Given the description of an element on the screen output the (x, y) to click on. 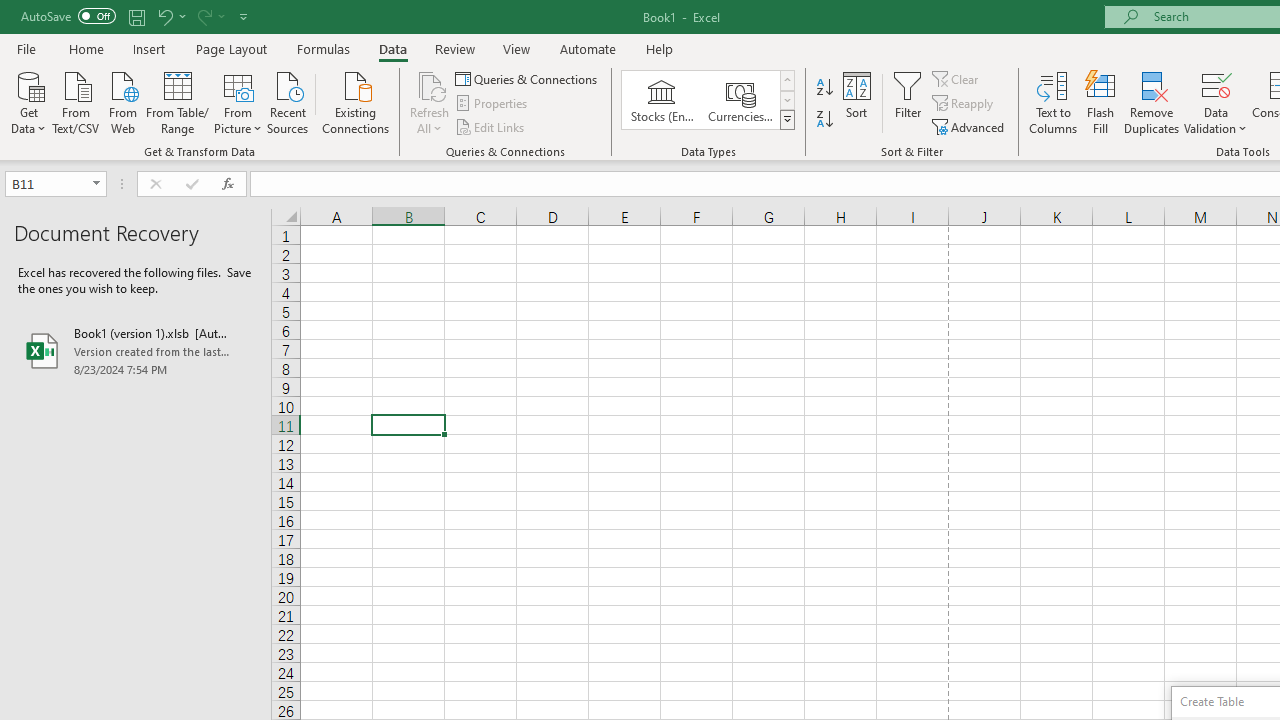
Stocks (English) (662, 100)
Remove Duplicates (1151, 102)
Queries & Connections (527, 78)
Currencies (English) (740, 100)
Advanced... (970, 126)
Properties (492, 103)
